Given the description of an element on the screen output the (x, y) to click on. 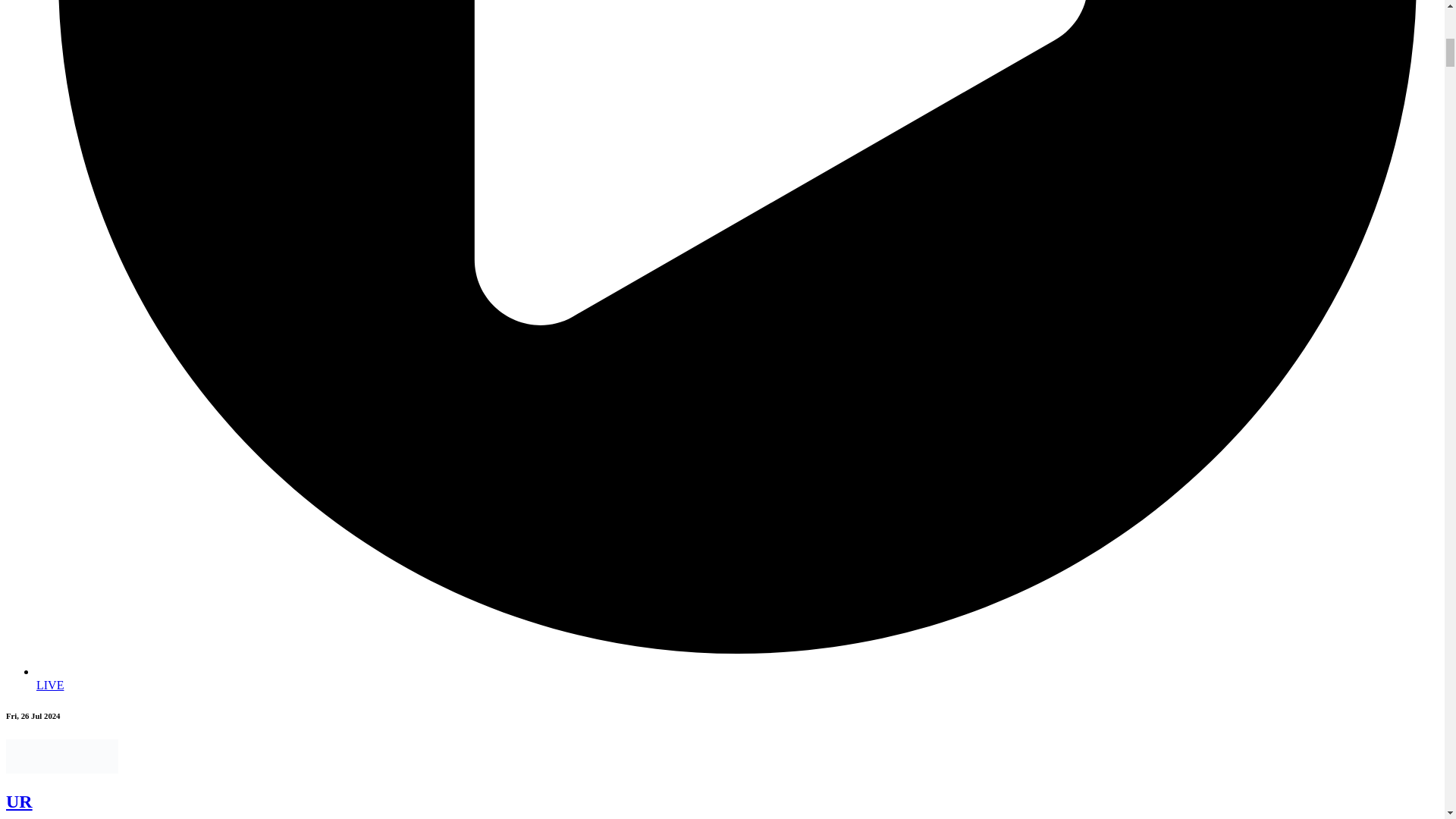
UR (18, 801)
